Given the description of an element on the screen output the (x, y) to click on. 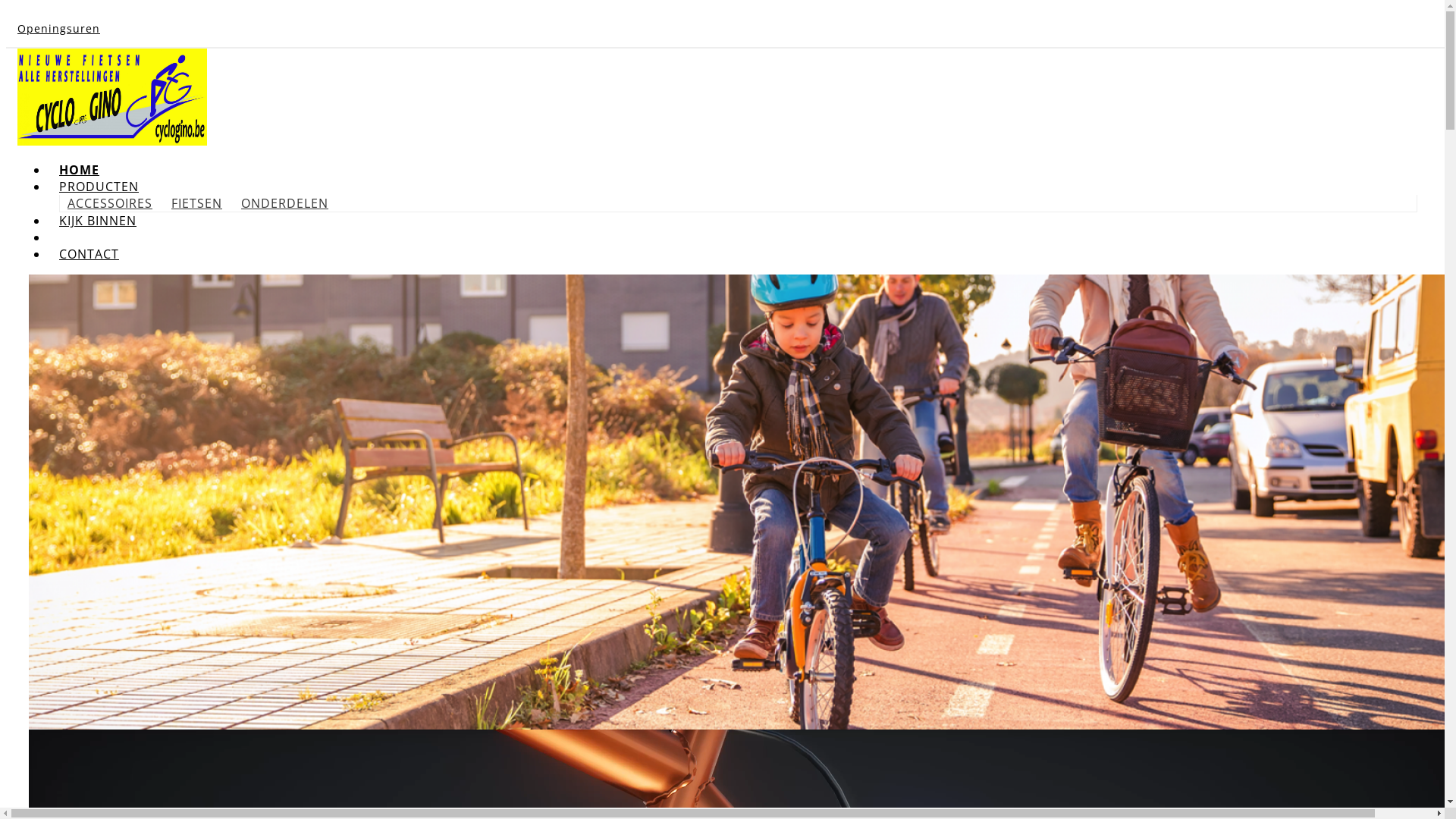
FIETSEN Element type: text (196, 203)
ONDERDELEN Element type: text (284, 203)
HOME Element type: text (79, 169)
PRODUCTEN Element type: text (98, 186)
CONTACT Element type: text (89, 253)
ACCESSOIRES Element type: text (109, 203)
Openingsuren Element type: text (58, 28)
KIJK BINNEN Element type: text (97, 220)
